Given the description of an element on the screen output the (x, y) to click on. 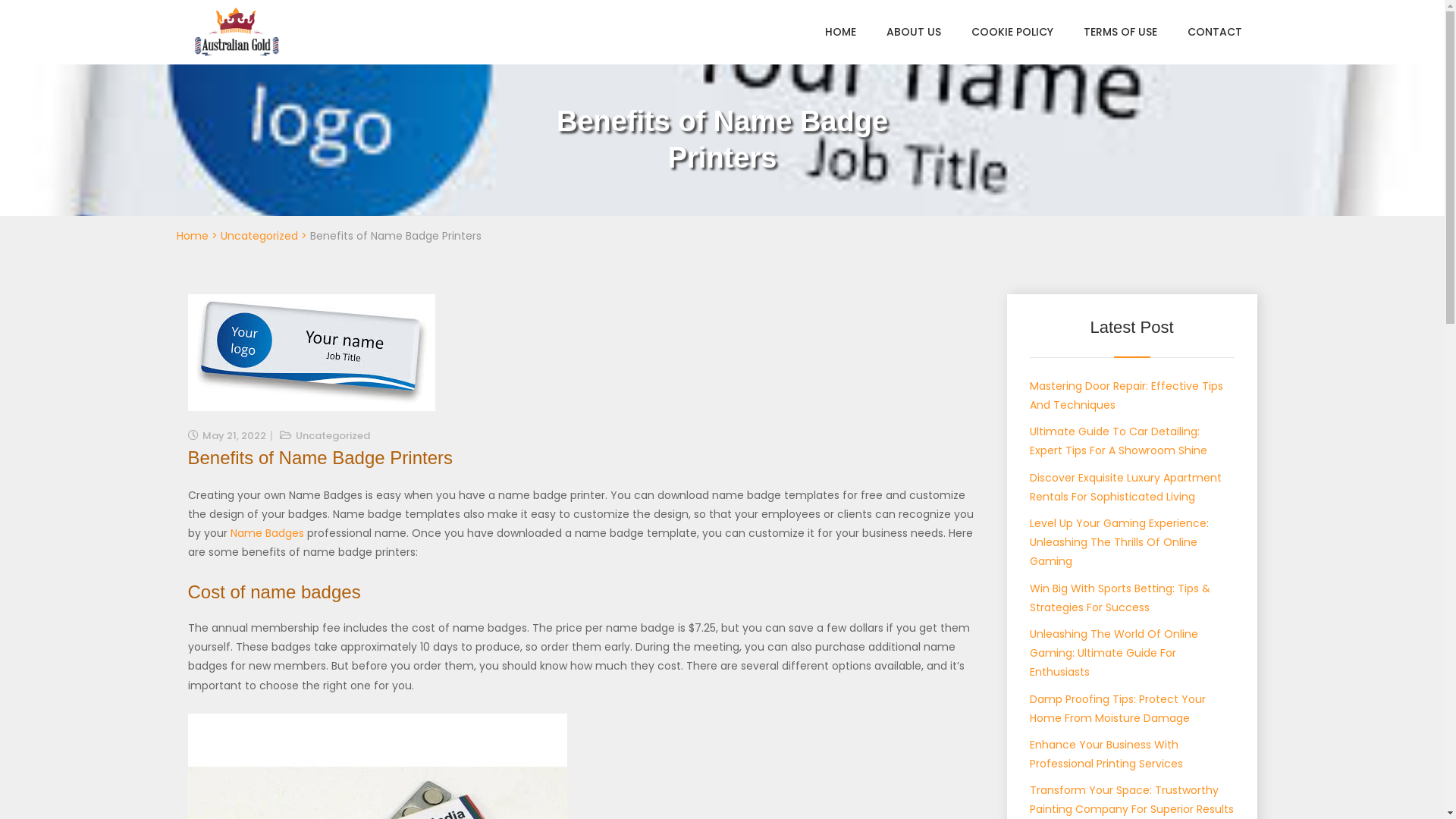
CONTACT Element type: text (1214, 32)
Home Element type: text (191, 235)
May 21, 2022 Element type: text (233, 435)
Win Big With Sports Betting: Tips & Strategies For Success Element type: text (1119, 597)
Mastering Door Repair: Effective Tips And Techniques Element type: text (1126, 395)
TERMS OF USE Element type: text (1119, 32)
Enhance Your Business With Professional Printing Services Element type: text (1106, 754)
Name Badges Element type: text (267, 532)
Damp Proofing Tips: Protect Your Home From Moisture Damage Element type: text (1117, 708)
ABOUT US Element type: text (912, 32)
Uncategorized Element type: text (258, 235)
Uncategorized Element type: text (332, 435)
COOKIE POLICY Element type: text (1011, 32)
HOME Element type: text (840, 32)
Australian Gold Element type: text (260, 72)
